Given the description of an element on the screen output the (x, y) to click on. 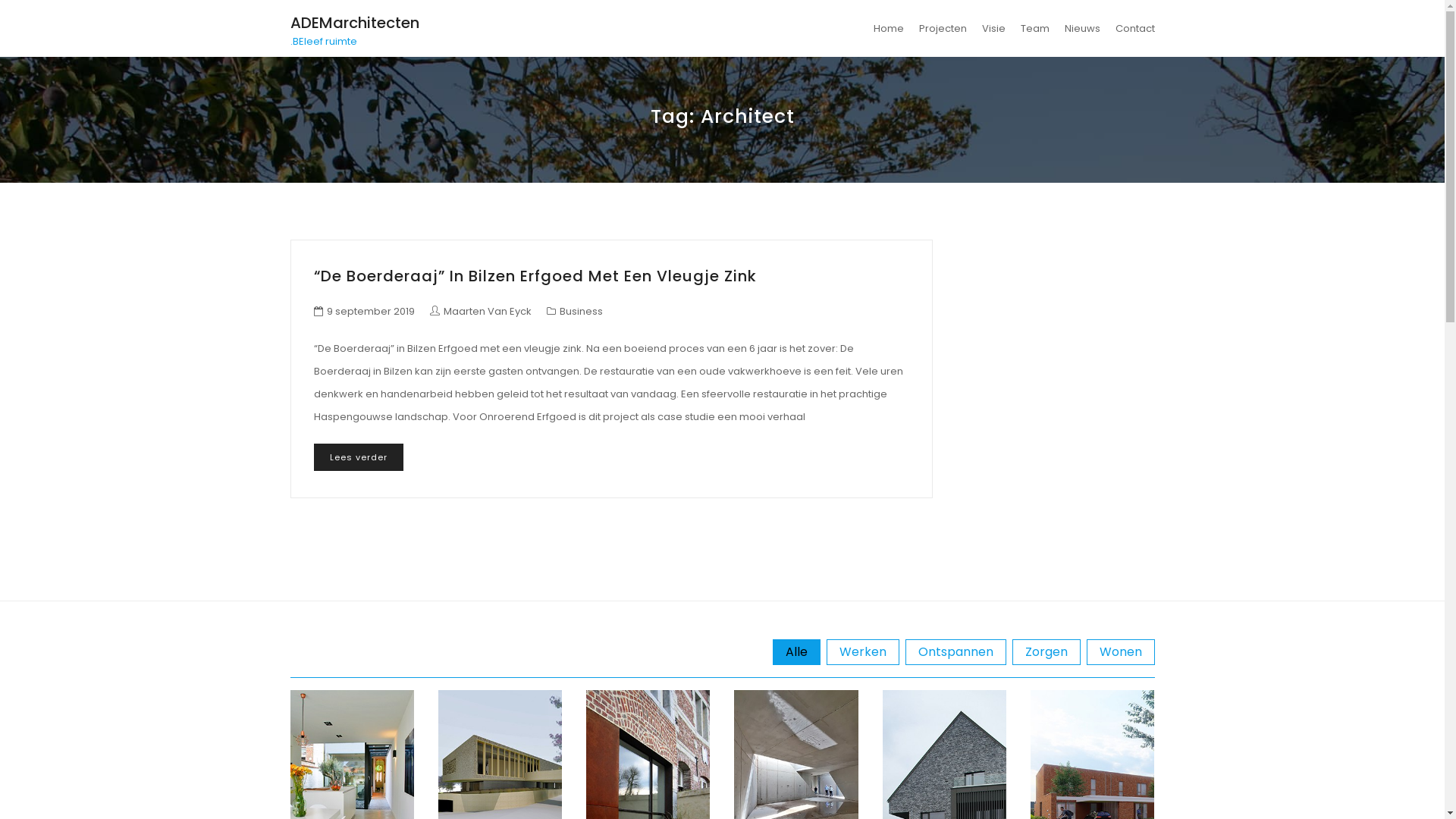
Projecten Element type: text (942, 28)
ADEMarchitecten Element type: text (353, 22)
Business Element type: text (580, 311)
Zorgen Element type: text (1045, 652)
Ontspannen Element type: text (955, 652)
Alle Element type: text (795, 652)
Nieuws Element type: text (1082, 28)
Contact Element type: text (1130, 28)
Lees verder Element type: text (358, 456)
Wonen Element type: text (1119, 652)
Maarten Van Eyck Element type: text (479, 311)
9 september 2019 Element type: text (370, 311)
Werken Element type: text (862, 652)
Home Element type: text (888, 28)
Team Element type: text (1035, 28)
Visie Element type: text (992, 28)
